Given the description of an element on the screen output the (x, y) to click on. 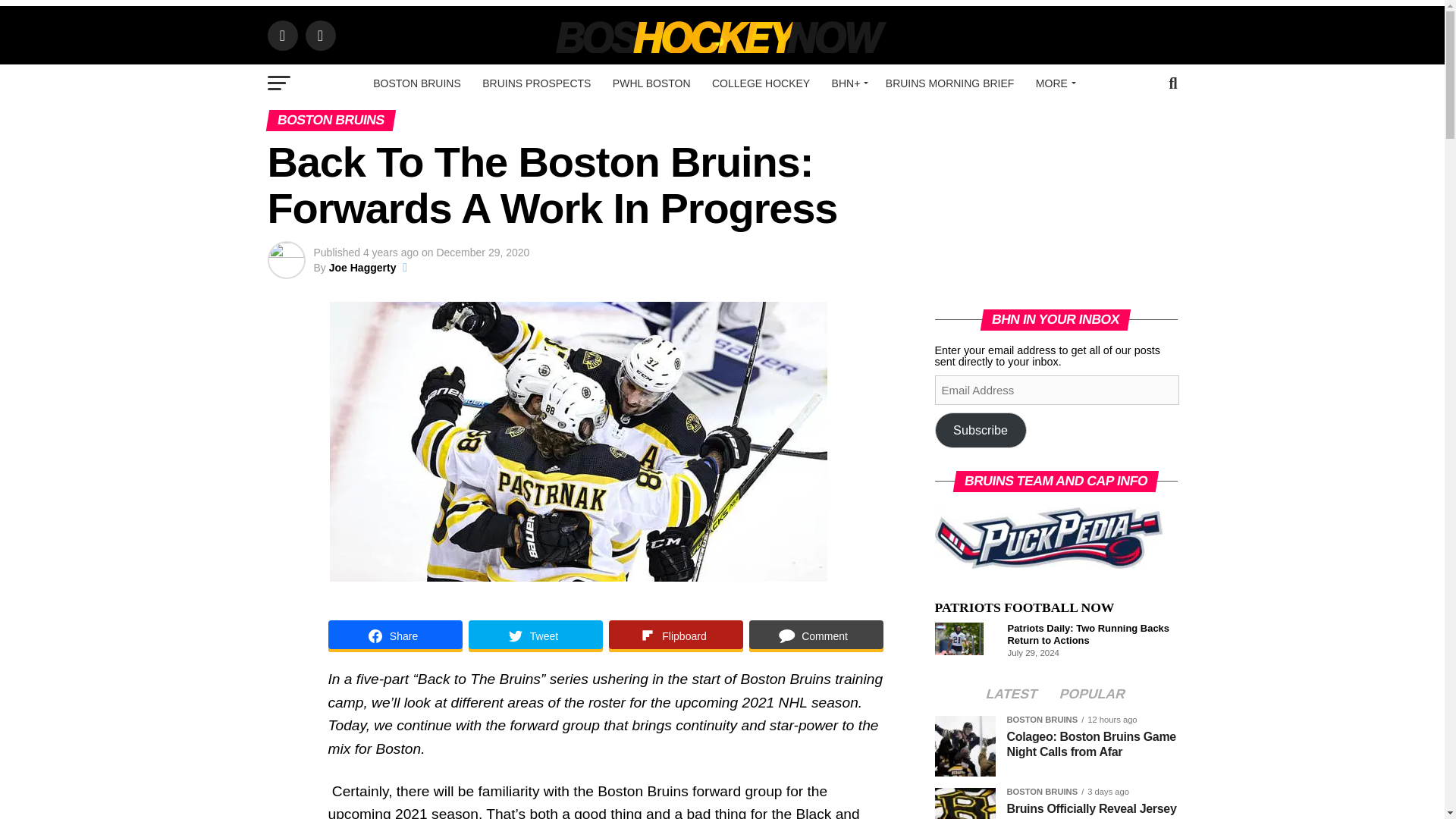
Share on Tweet (535, 635)
Bruins Team and Cap Info (1047, 537)
Share on Flipboard (675, 635)
Share on Share (394, 635)
Share on Comment (816, 635)
Posts by Joe Haggerty (362, 267)
